Given the description of an element on the screen output the (x, y) to click on. 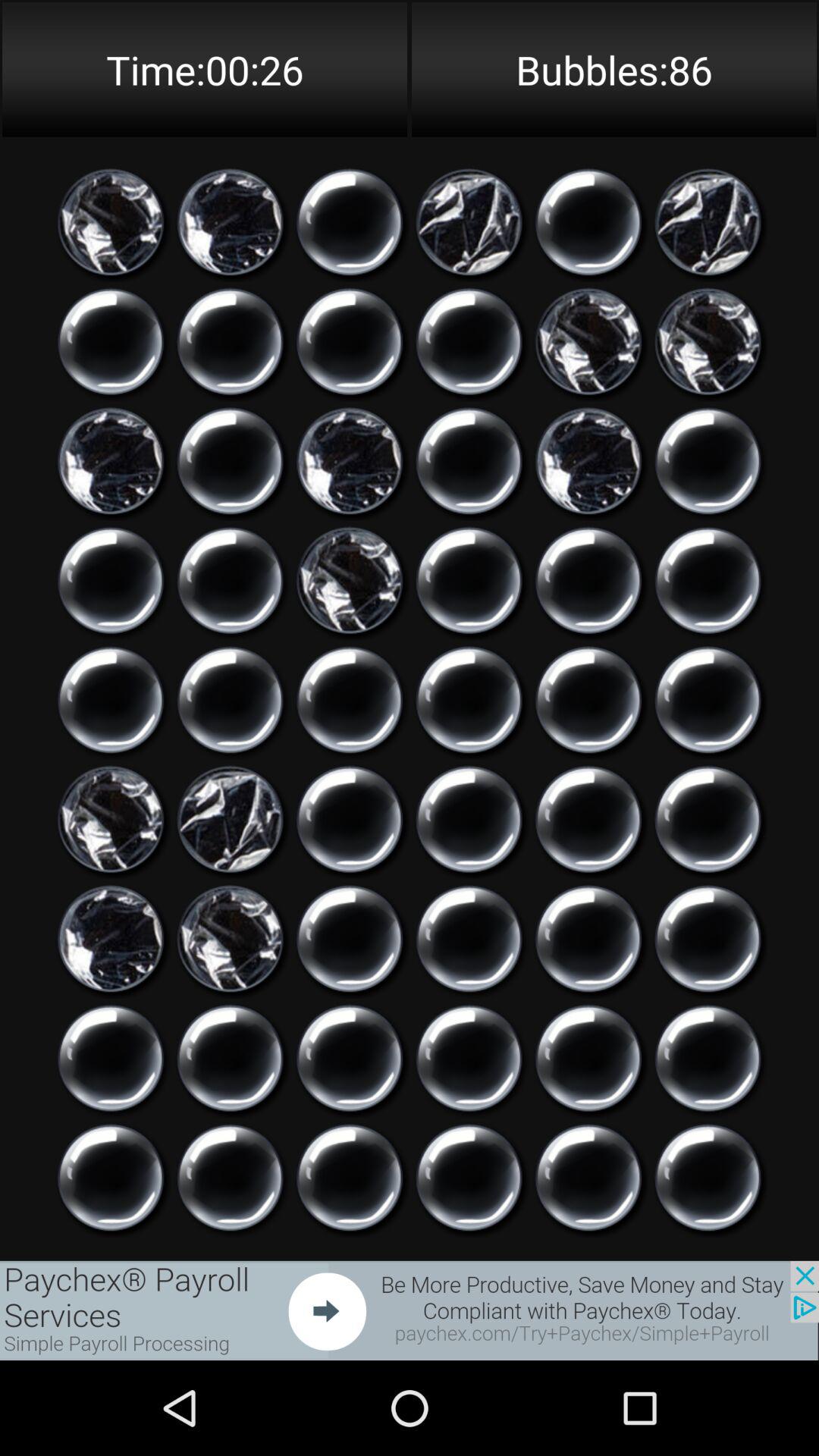
click on icon (230, 819)
